Given the description of an element on the screen output the (x, y) to click on. 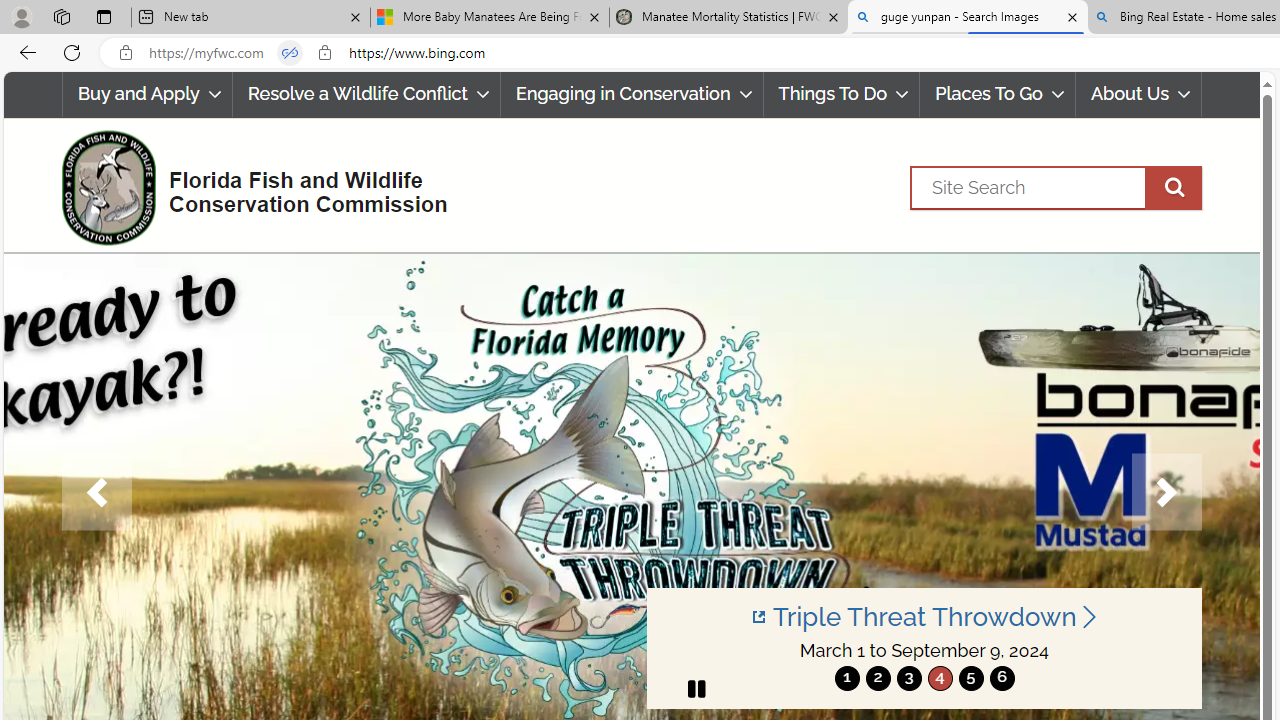
Next (1166, 491)
Resolve a Wildlife Conflict (365, 94)
guge yunpan - Search Images (967, 17)
move to slide 1 (847, 678)
Things To Do (841, 94)
About Us (1139, 94)
move to slide 3 (908, 678)
1 (847, 678)
Buy and Apply (146, 94)
move to slide 5 (970, 678)
slider pause button (696, 688)
FWC Logo Florida Fish and Wildlife Conservation Commission (246, 185)
